Given the description of an element on the screen output the (x, y) to click on. 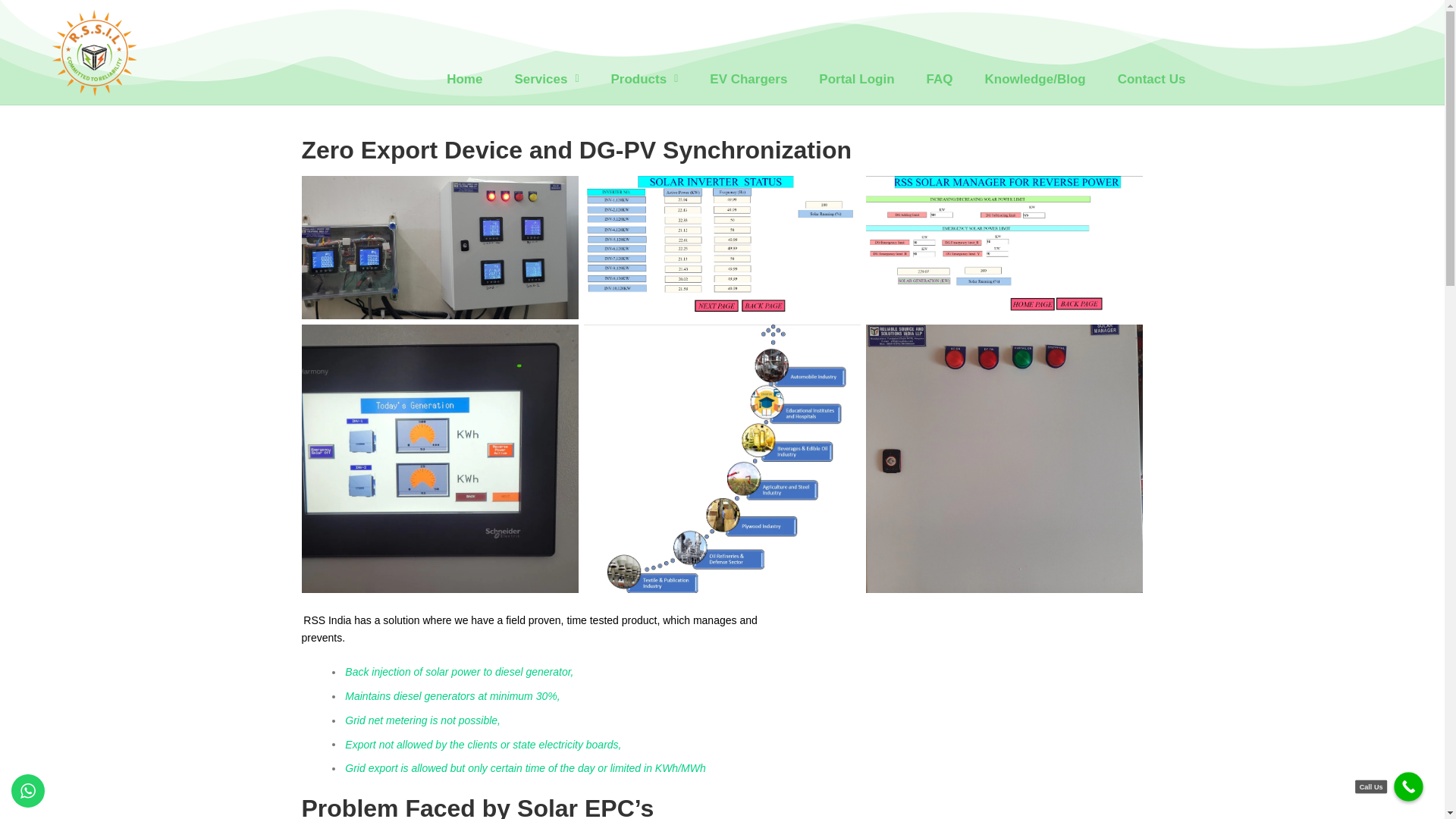
Contact Us (1152, 79)
Services (545, 79)
EV Chargers (748, 79)
Portal Login (855, 79)
Home (464, 79)
Call Us (1414, 793)
Products (644, 79)
FAQ (939, 79)
